Given the description of an element on the screen output the (x, y) to click on. 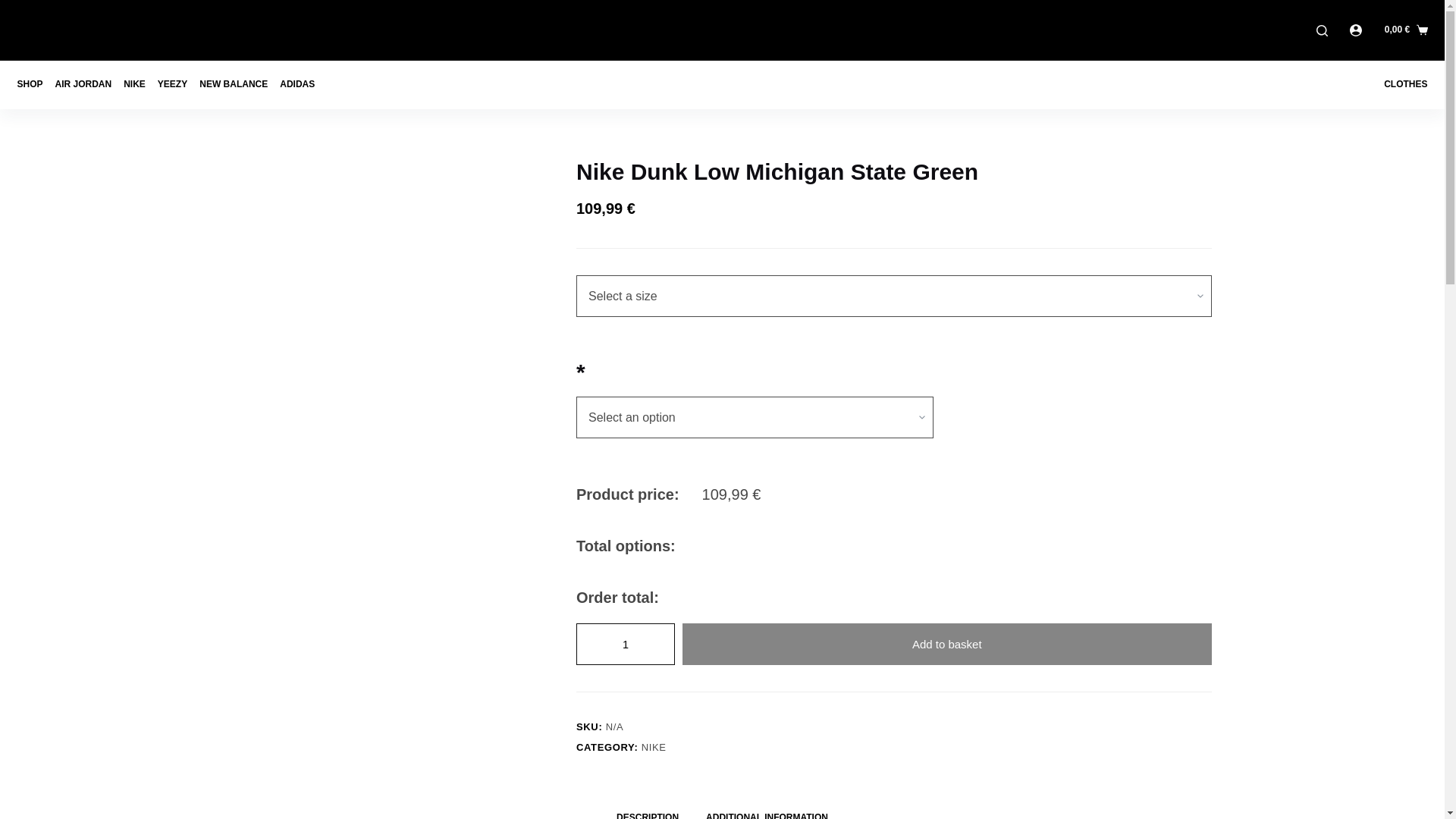
Add to basket (946, 644)
DESCRIPTION (647, 809)
Nike-Dunk-Low-Michigan-State-Green (389, 248)
Skip to content (15, 7)
1 (625, 644)
NEW BALANCE (233, 84)
NIKE (654, 747)
ADIDAS (296, 84)
CLOTHES (1401, 84)
AIR JORDAN (83, 84)
